Given the description of an element on the screen output the (x, y) to click on. 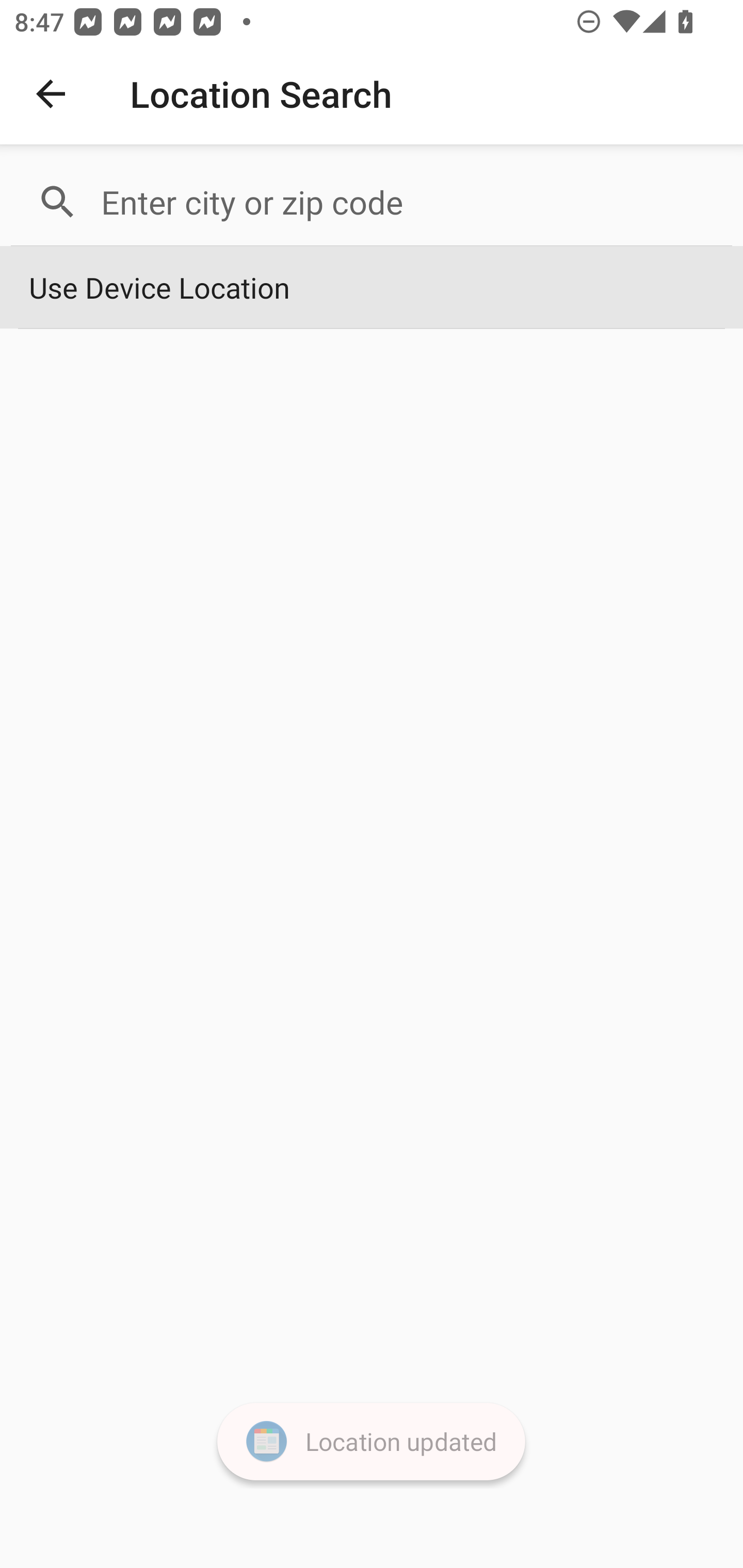
Navigate up (50, 93)
Enter city or zip code (407, 202)
Use Device Location (371, 287)
